Given the description of an element on the screen output the (x, y) to click on. 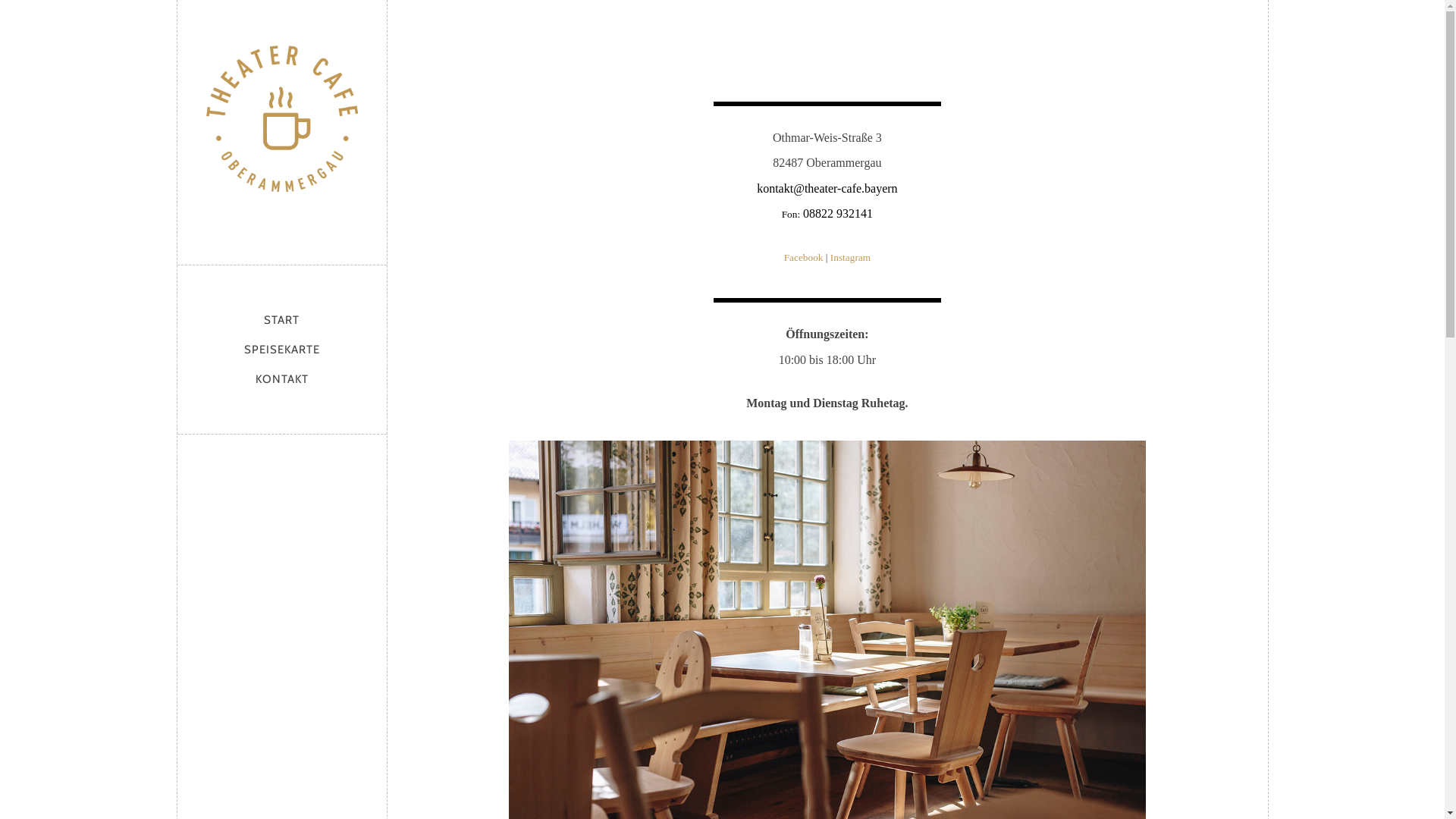
KONTAKT Element type: text (281, 379)
kontakt@theater-cafe.bayern Element type: text (826, 188)
Facebook Element type: text (803, 257)
START Element type: text (281, 319)
Instagram Element type: text (850, 257)
THEATER CAFE Element type: text (281, 128)
SPEISEKARTE Element type: text (281, 349)
